Given the description of an element on the screen output the (x, y) to click on. 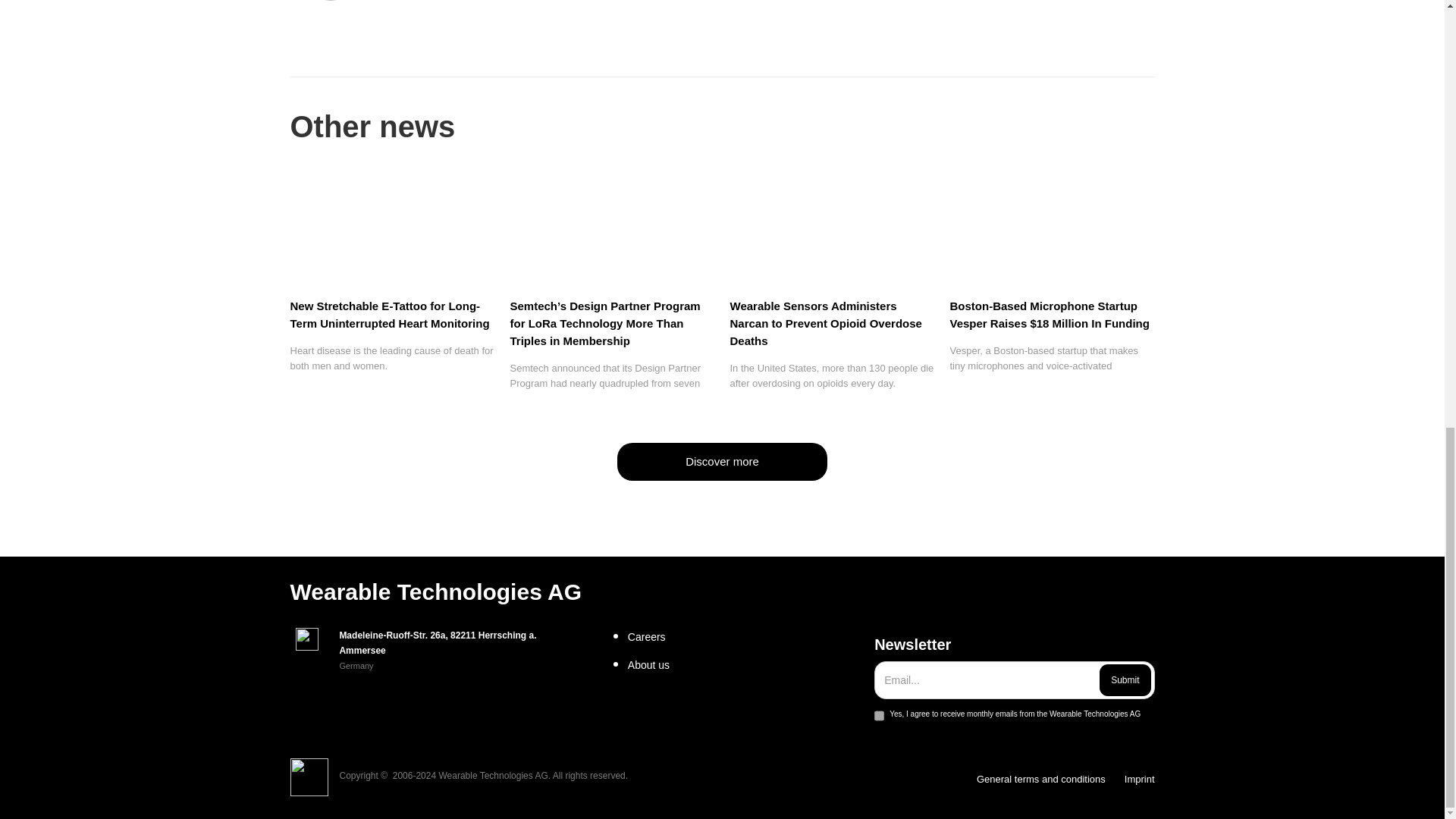
Careers (744, 636)
Discover more (722, 461)
General terms and conditions (1040, 779)
About us (744, 664)
Submit (1124, 680)
Submit (1124, 680)
Imprint (1139, 779)
